Given the description of an element on the screen output the (x, y) to click on. 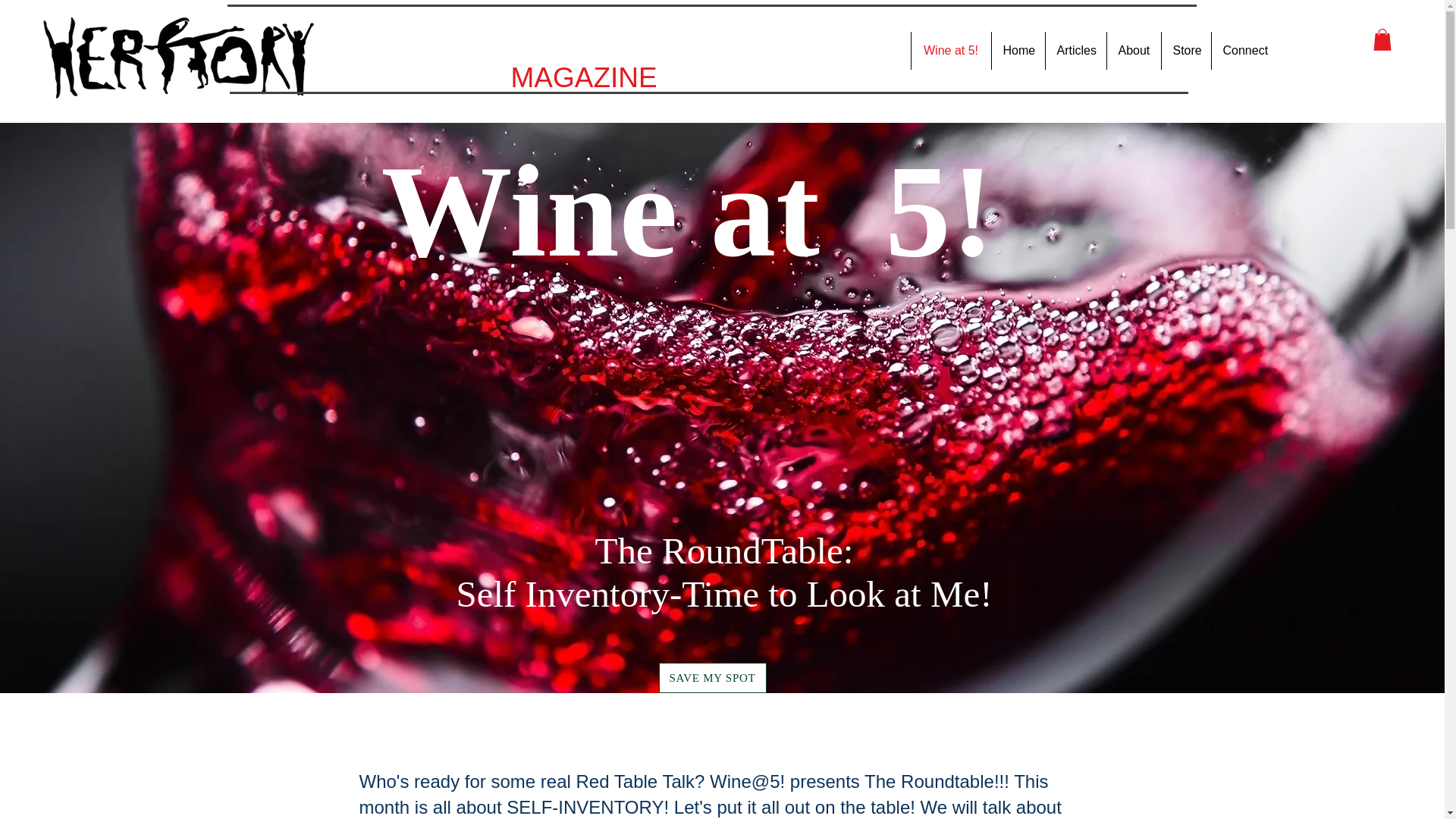
Wine at 5! (950, 50)
About (1132, 50)
Connect (1242, 50)
Home (1016, 50)
SAVE MY SPOT (711, 677)
Store (1184, 50)
Articles (1075, 50)
